Given the description of an element on the screen output the (x, y) to click on. 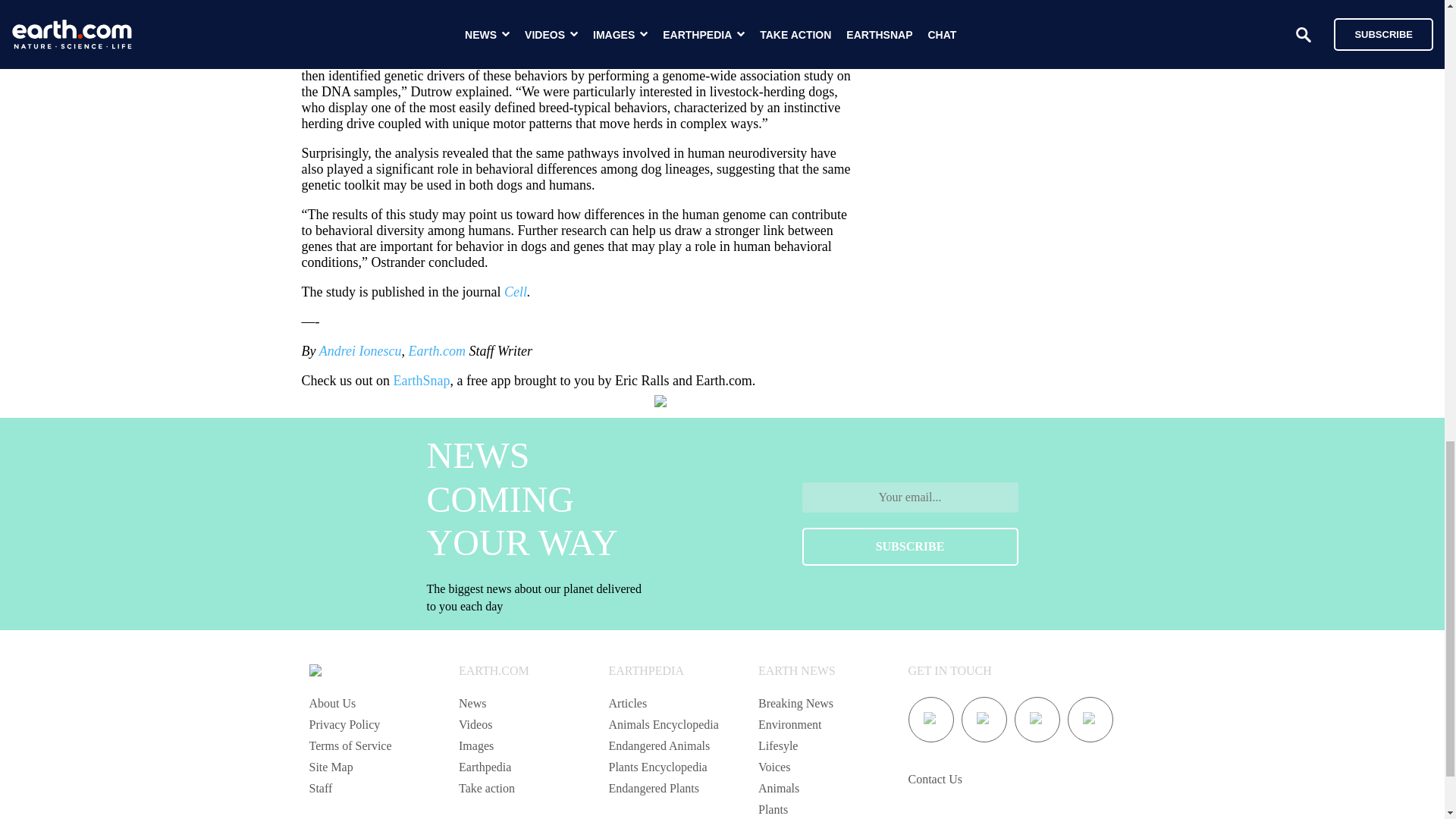
Andrei Ionescu (359, 350)
Earth.com (436, 350)
Cell (515, 291)
EarthSnap (421, 380)
